Given the description of an element on the screen output the (x, y) to click on. 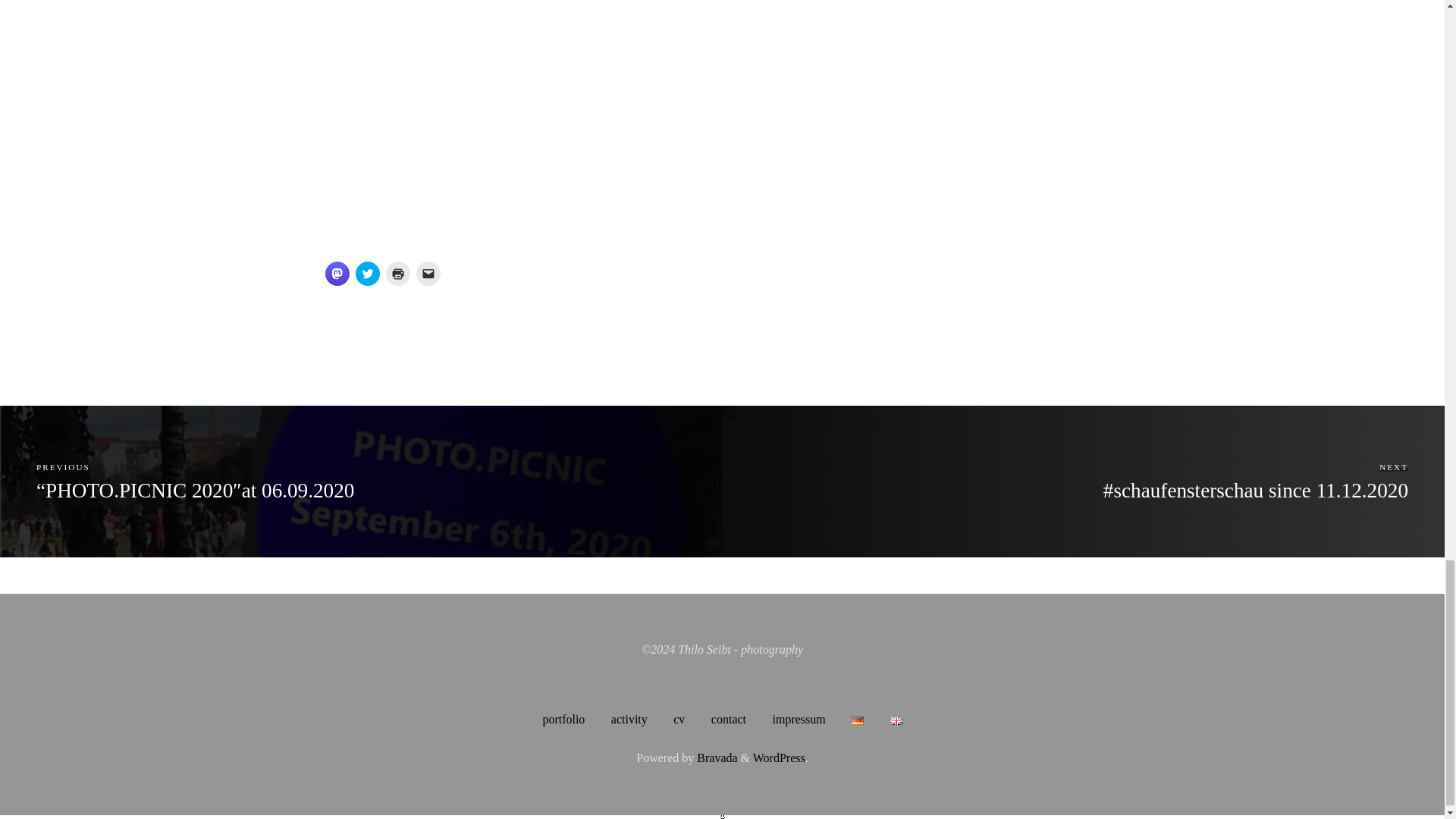
Bravada (715, 757)
contact (728, 719)
Click to print (397, 273)
Click to share on Twitter (366, 273)
Click to share on Mastodon (336, 273)
Semantic Personal Publishing Platform (778, 757)
impressum (798, 719)
WordPress (778, 757)
activity (629, 719)
Click to email a link to a friend (426, 273)
